Given the description of an element on the screen output the (x, y) to click on. 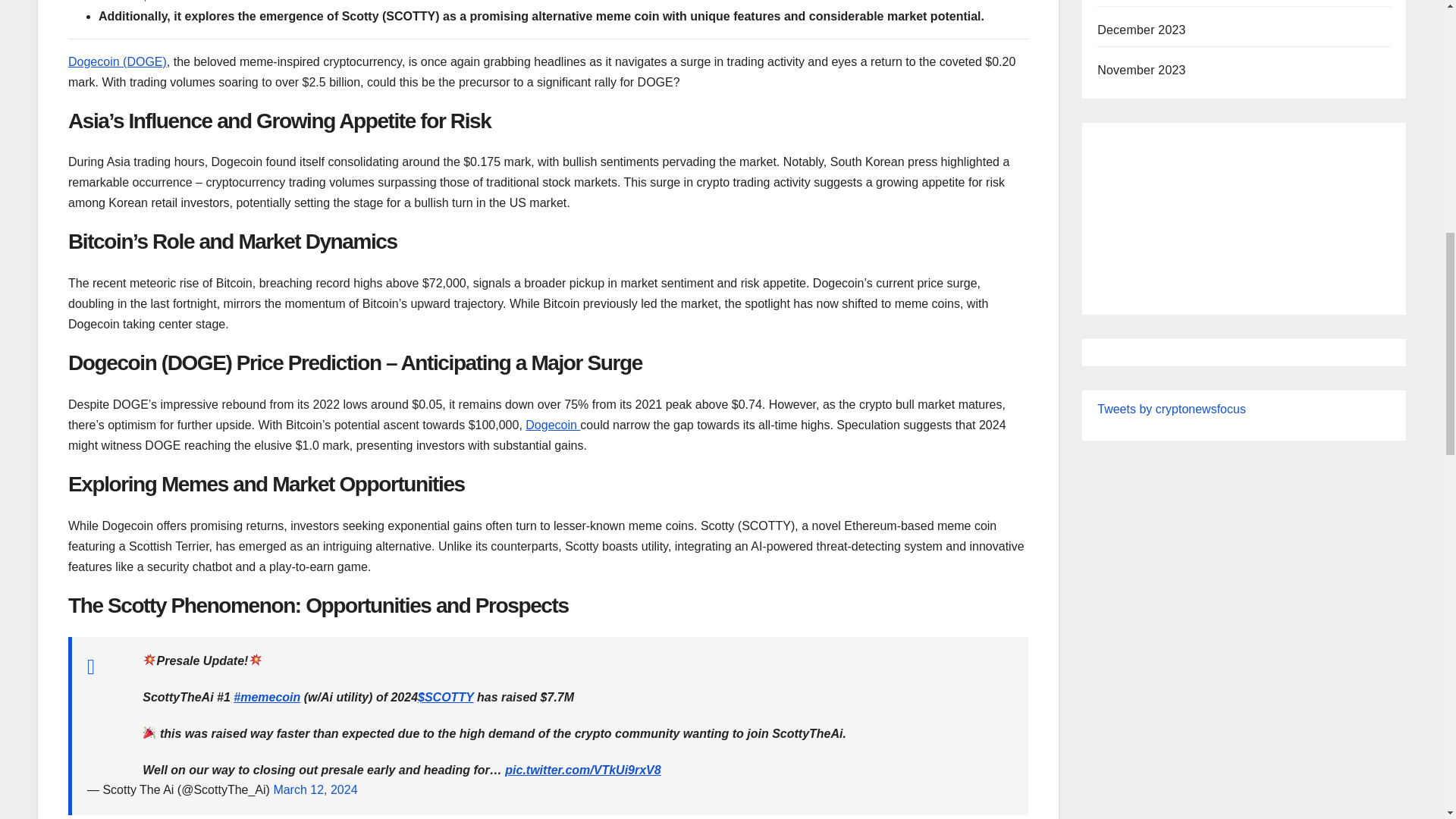
VeChain Charts its Own Course as Bitcoin Soars  Asset Spree (1243, 212)
Dogecoin (552, 424)
March 12, 2024 (314, 789)
